Given the description of an element on the screen output the (x, y) to click on. 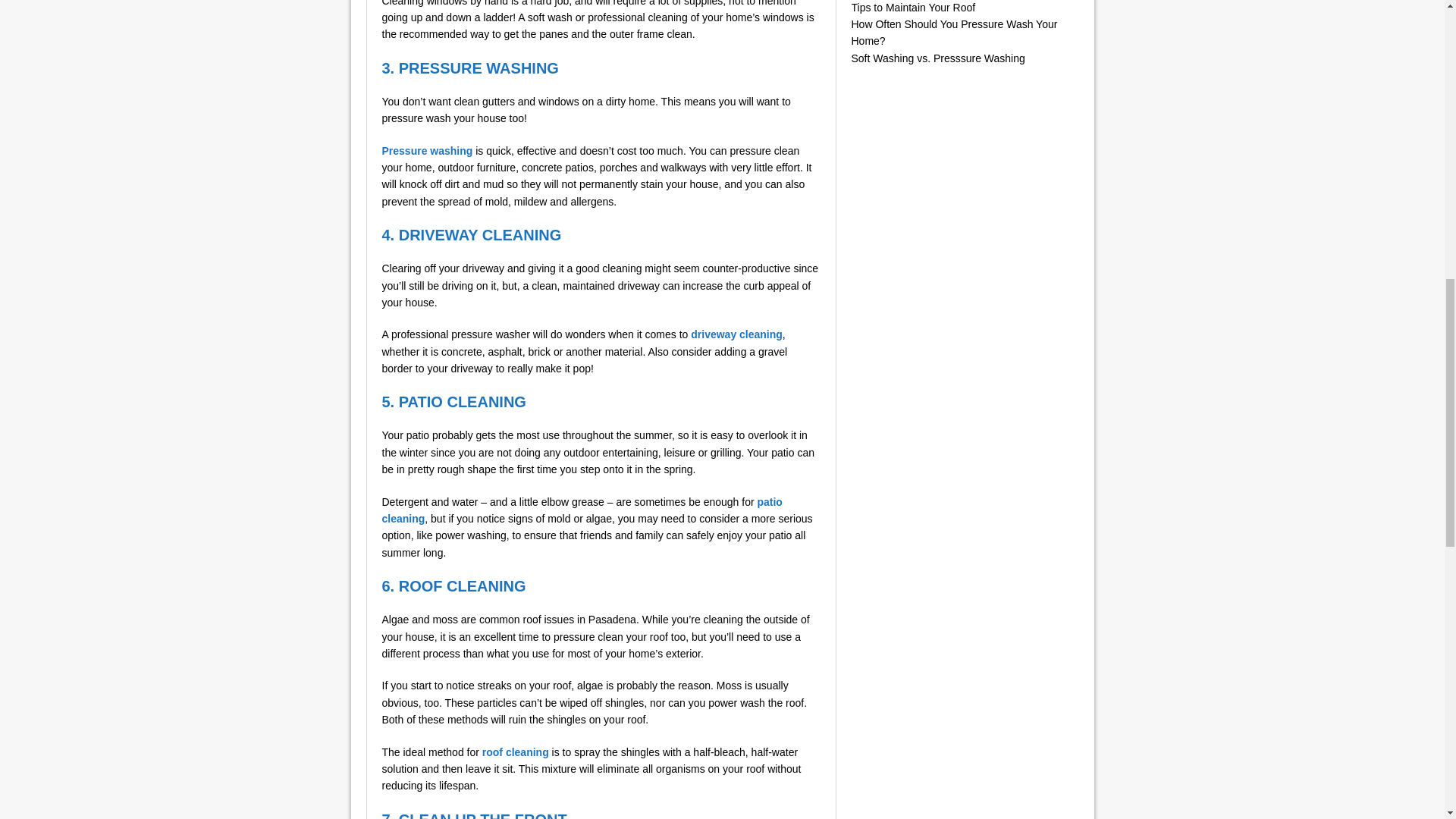
driveway cleaning (736, 334)
Soft Washing vs. Presssure Washing (937, 58)
patio cleaning (582, 510)
Pressure washing (427, 150)
roof cleaning (514, 752)
How Often Should You Pressure Wash Your Home? (953, 32)
Tips to Maintain Your Roof (912, 7)
